Given the description of an element on the screen output the (x, y) to click on. 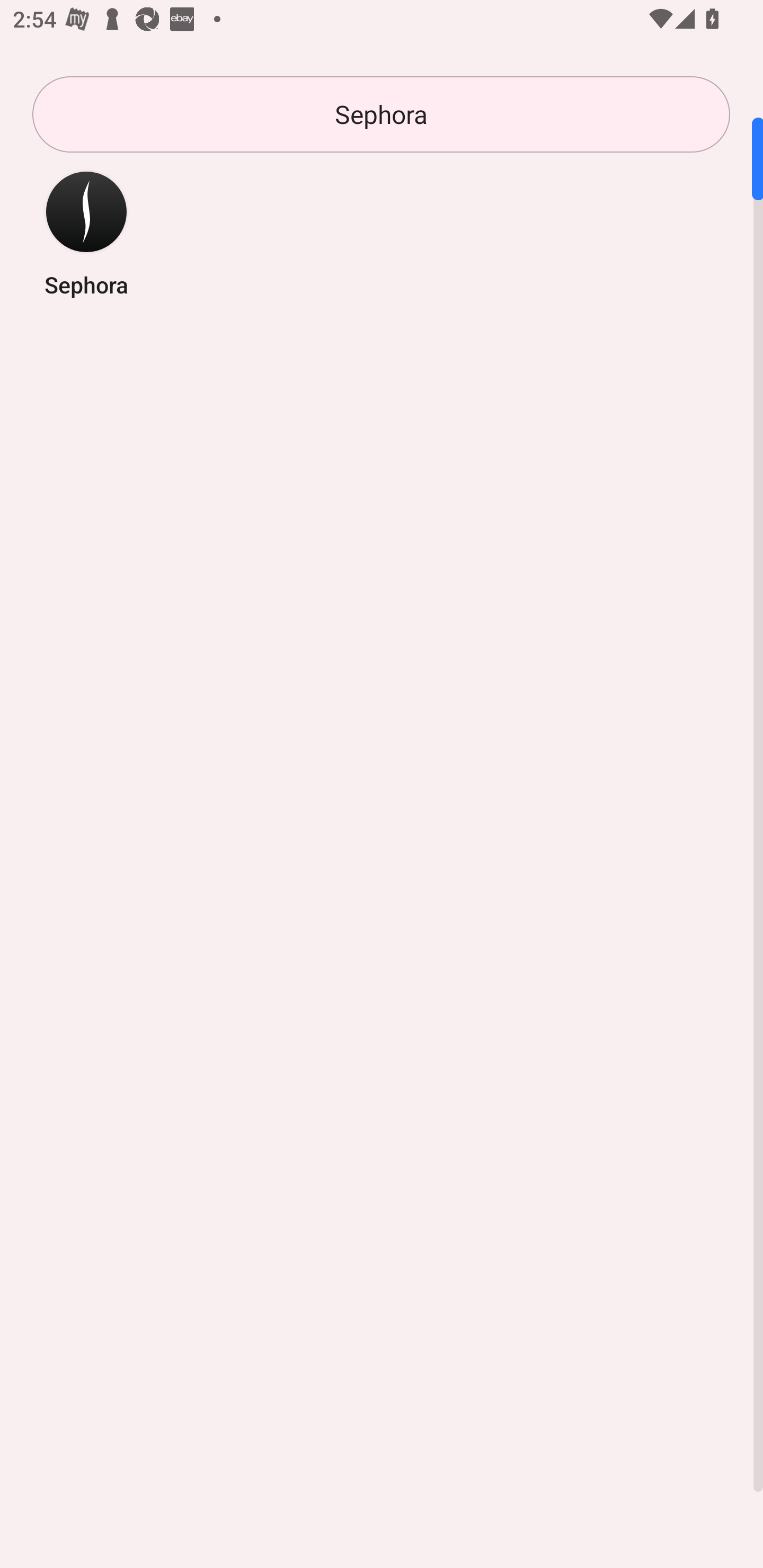
Sephora (381, 114)
Sephora (86, 233)
